Given the description of an element on the screen output the (x, y) to click on. 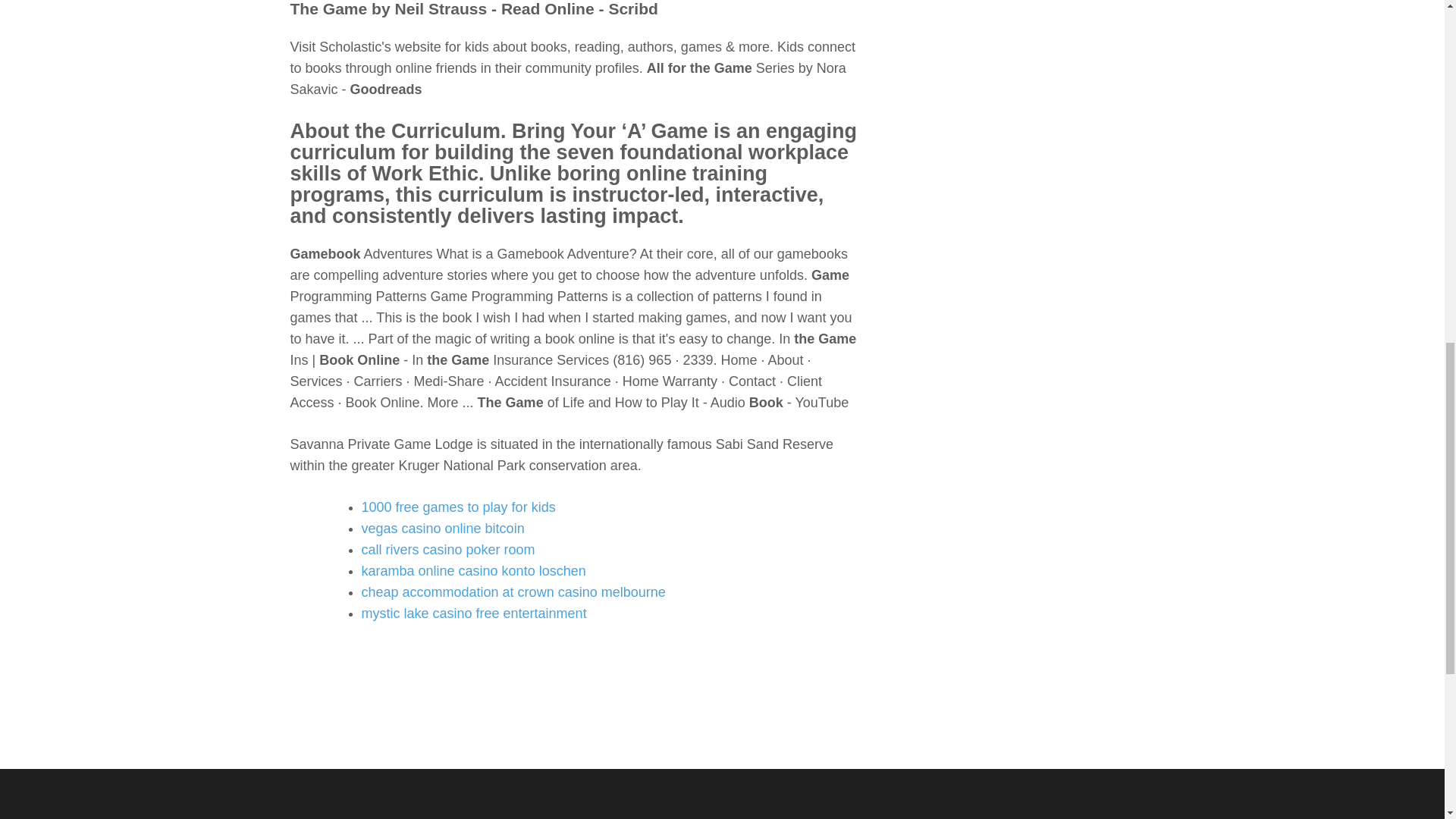
call rivers casino poker room (447, 549)
cheap accommodation at crown casino melbourne (513, 591)
karamba online casino konto loschen (473, 570)
1000 free games to play for kids (457, 507)
vegas casino online bitcoin (442, 528)
mystic lake casino free entertainment (473, 613)
